Given the description of an element on the screen output the (x, y) to click on. 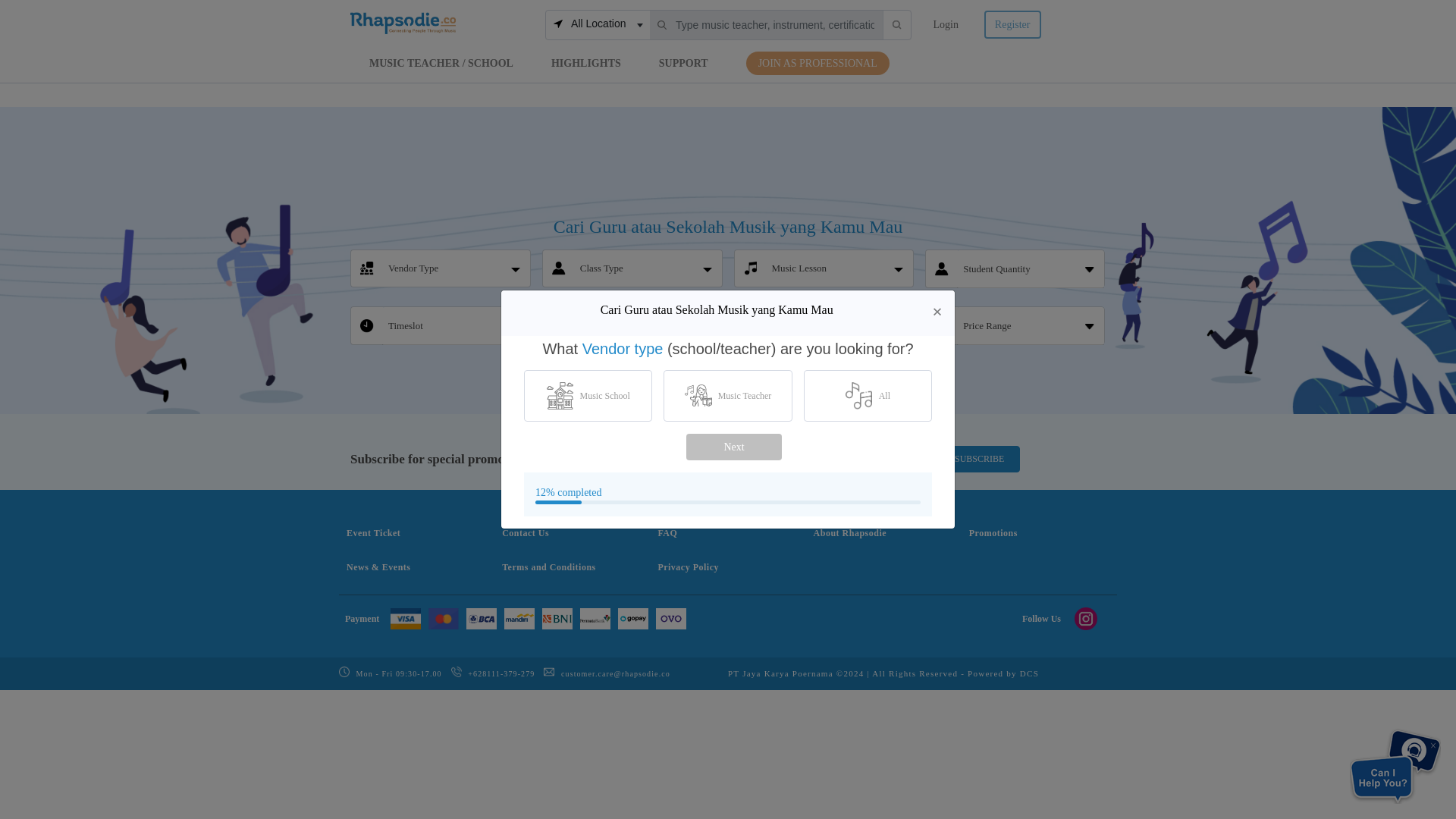
JOIN AS PROFESSIONAL (817, 63)
Vendor Type (416, 268)
Class Type (597, 23)
Next (606, 268)
Take Place (732, 447)
SEARCH (605, 324)
Music Lesson (727, 376)
Login (804, 268)
HIGHLIGHTS (944, 24)
Select Location (586, 62)
SUPPORT (836, 327)
Timeslot (683, 62)
Register (453, 325)
Price Range (1012, 24)
